Given the description of an element on the screen output the (x, y) to click on. 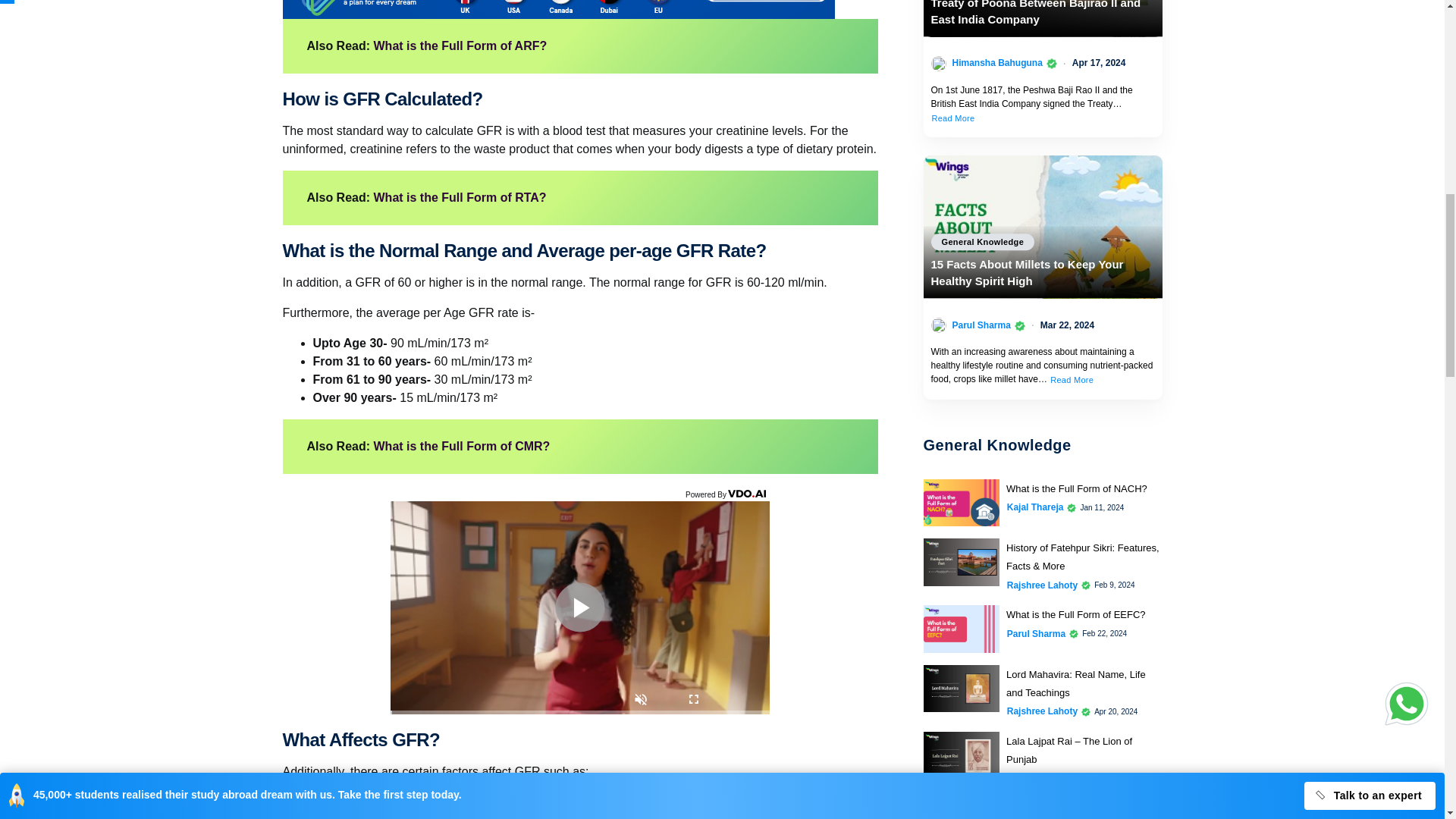
Play (579, 607)
Unmute (641, 700)
Fullscreen (693, 700)
